Given the description of an element on the screen output the (x, y) to click on. 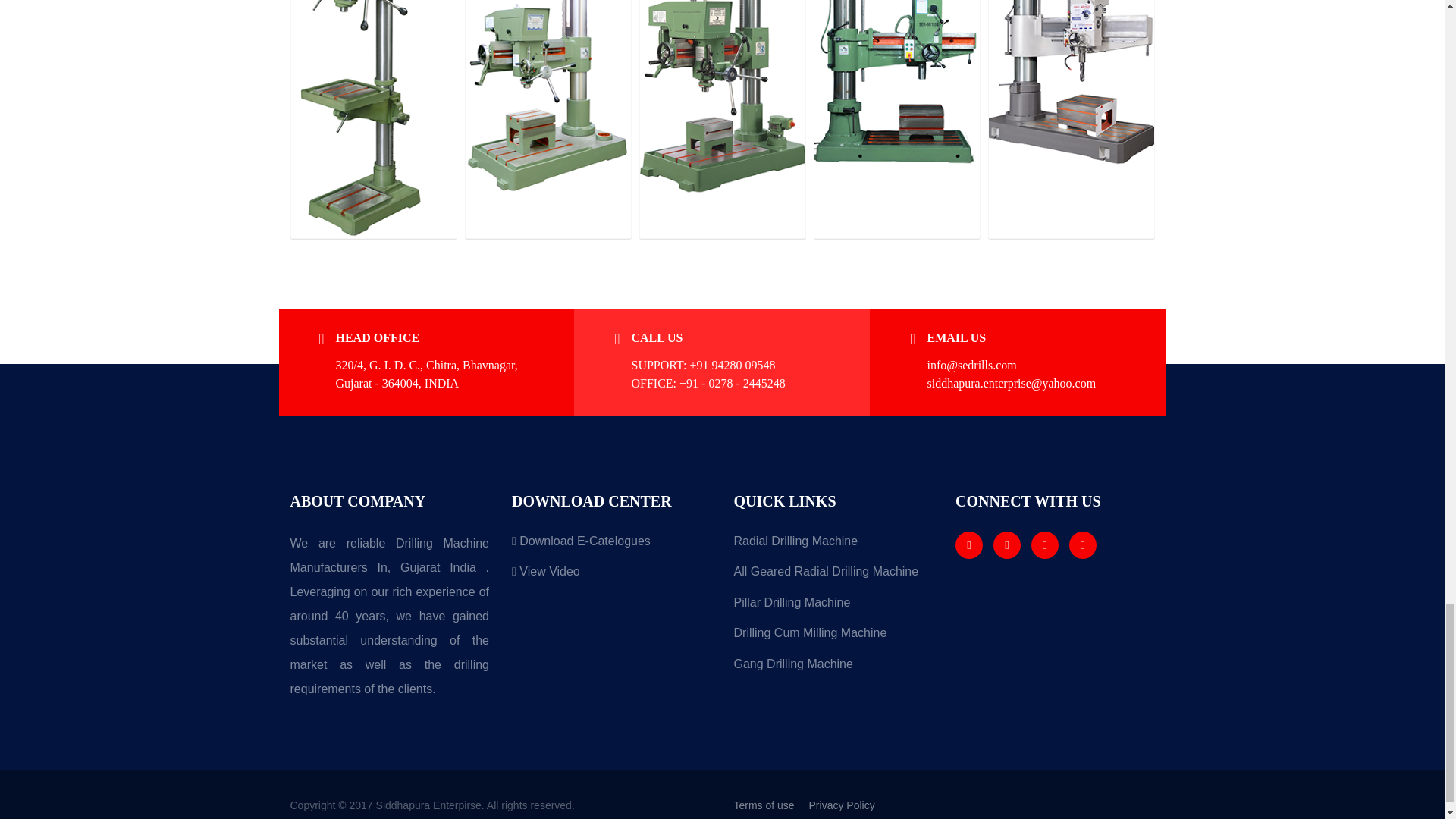
Drilling Cum Milling Machine (833, 638)
Terms of use (769, 805)
All Geared Radial Drilling Machine (833, 576)
Privacy Policy (847, 805)
Gang Drilling Machine (833, 669)
Pillar Drilling Machine (833, 608)
Download E-Catelogues (611, 546)
Radial Drilling Machine (833, 546)
View Video (611, 576)
